Given the description of an element on the screen output the (x, y) to click on. 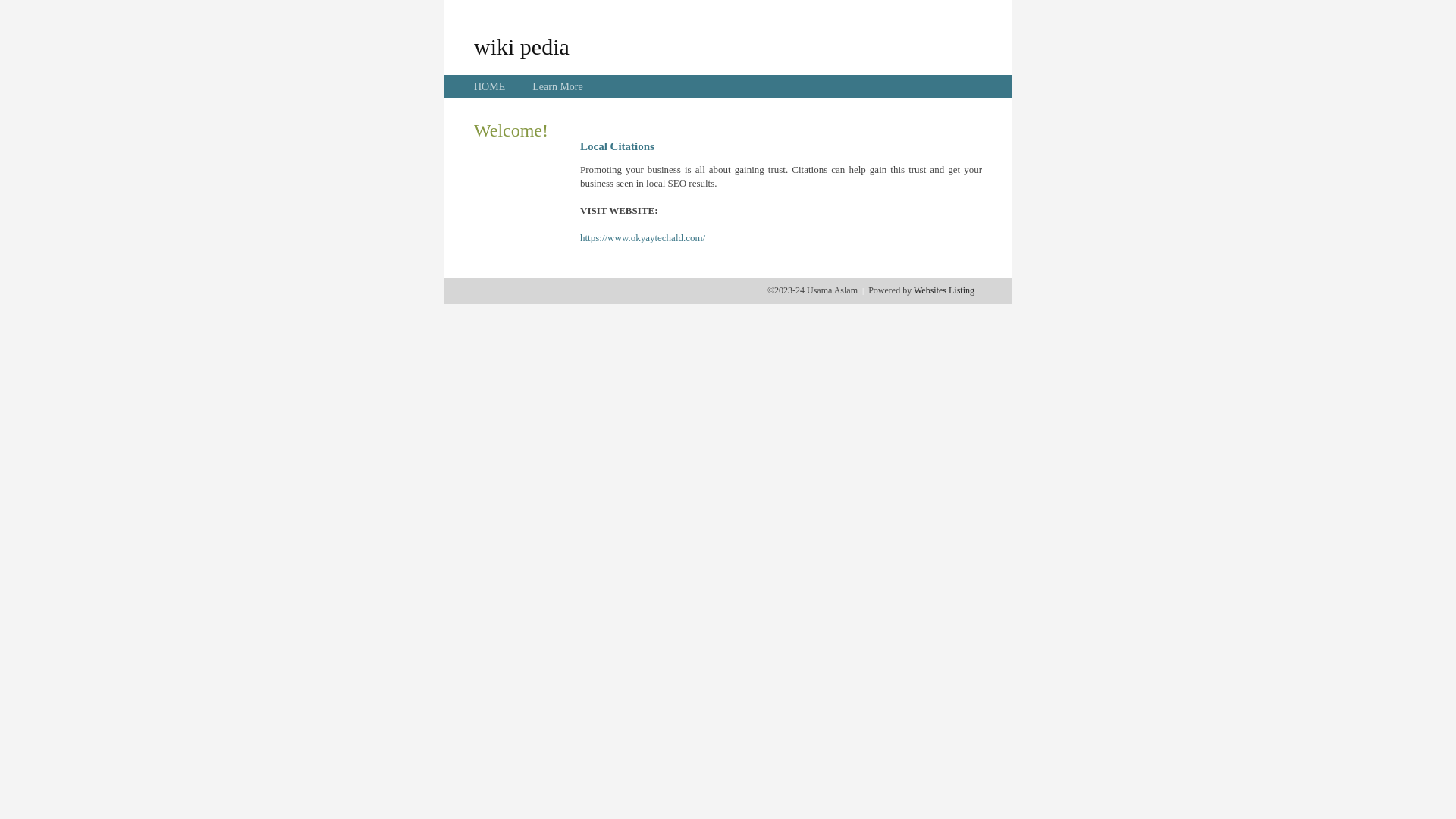
HOME Element type: text (489, 86)
Learn More Element type: text (557, 86)
Websites Listing Element type: text (943, 290)
https://www.okyaytechald.com/ Element type: text (642, 237)
wiki pedia Element type: text (521, 46)
